Given the description of an element on the screen output the (x, y) to click on. 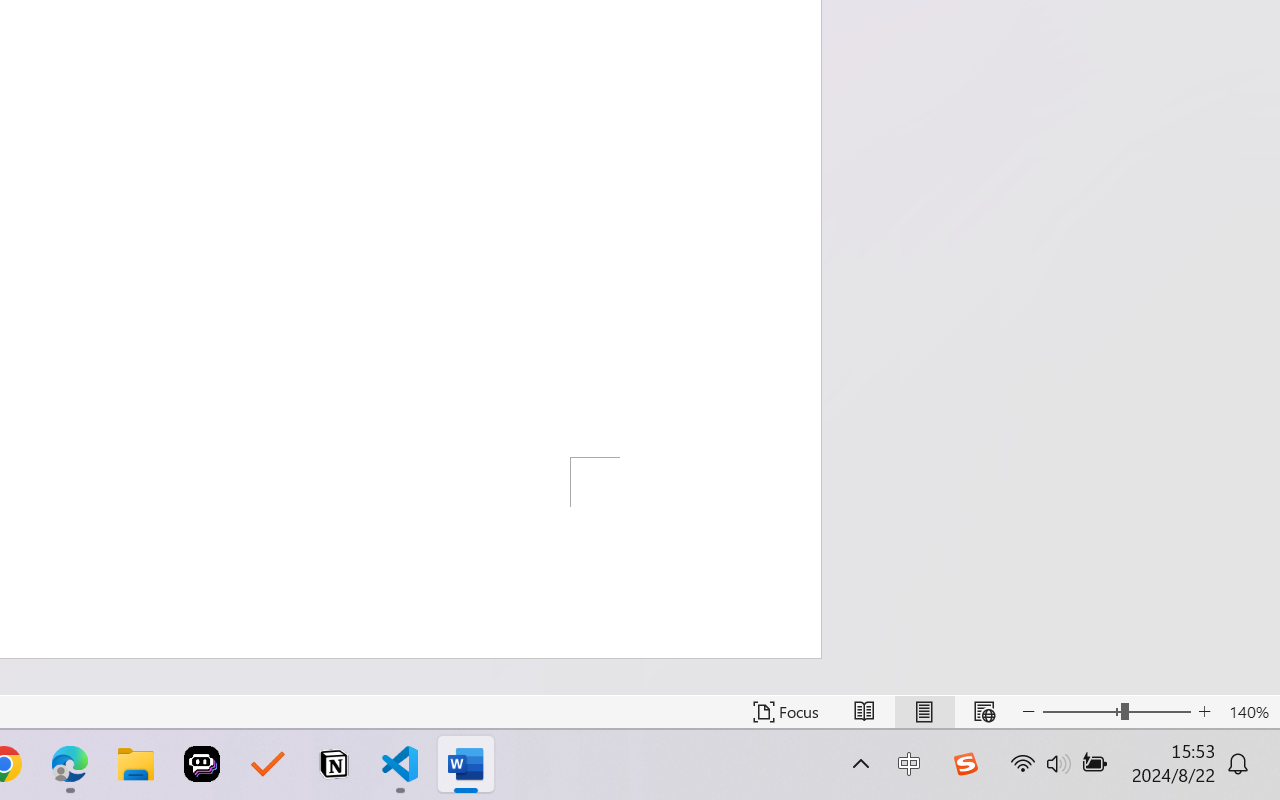
Zoom 140% (1249, 712)
Web Layout (984, 712)
Zoom (1116, 712)
